Given the description of an element on the screen output the (x, y) to click on. 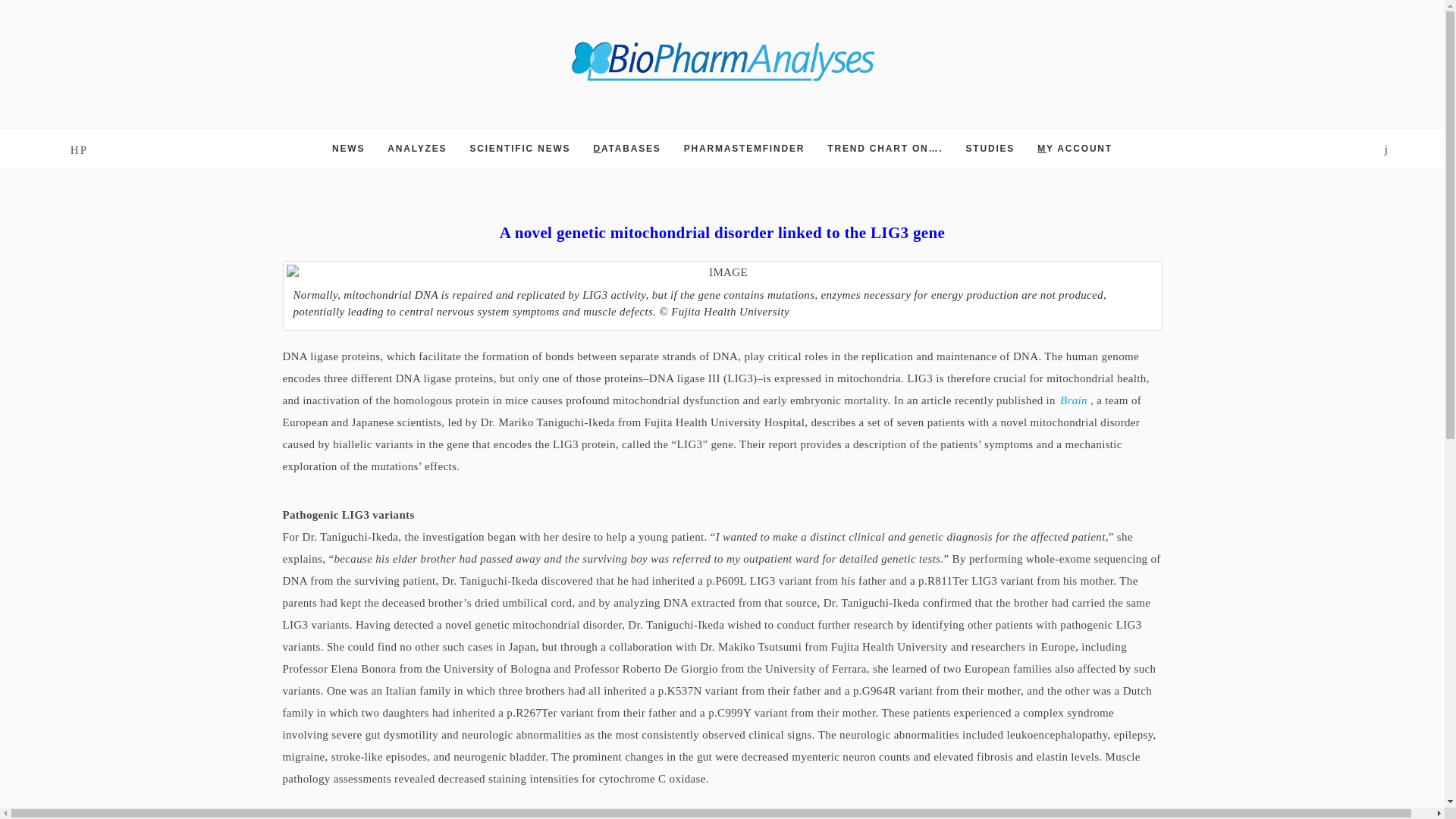
NEWS (348, 148)
DATABASES (627, 148)
STUDIES (989, 148)
SCIENTIFIC NEWS (519, 148)
PHARMASTEMFINDER (744, 148)
ANALYZES (416, 148)
MY ACCOUNT (1074, 148)
